Given the description of an element on the screen output the (x, y) to click on. 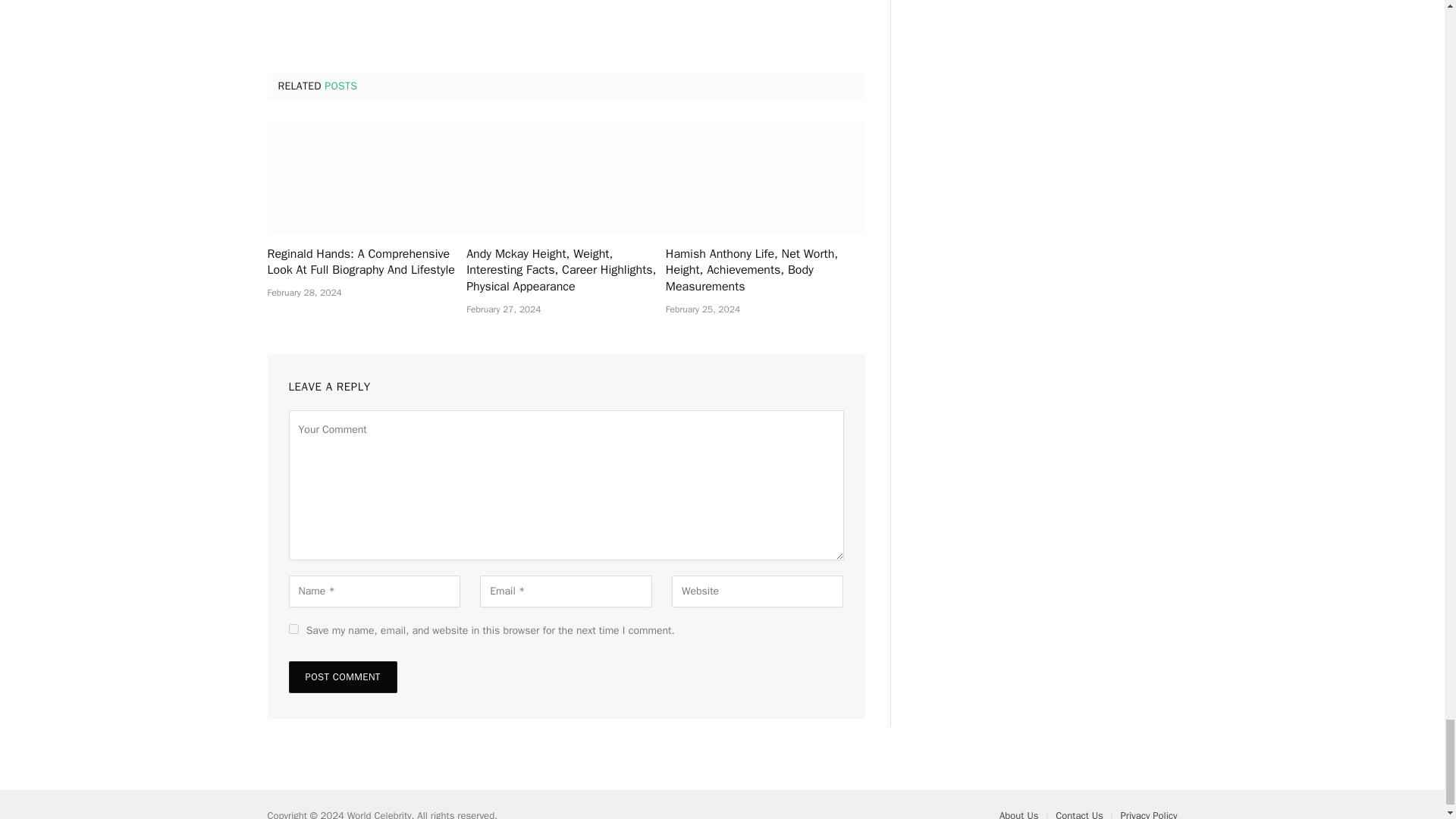
Post Comment (342, 676)
yes (293, 628)
